Given the description of an element on the screen output the (x, y) to click on. 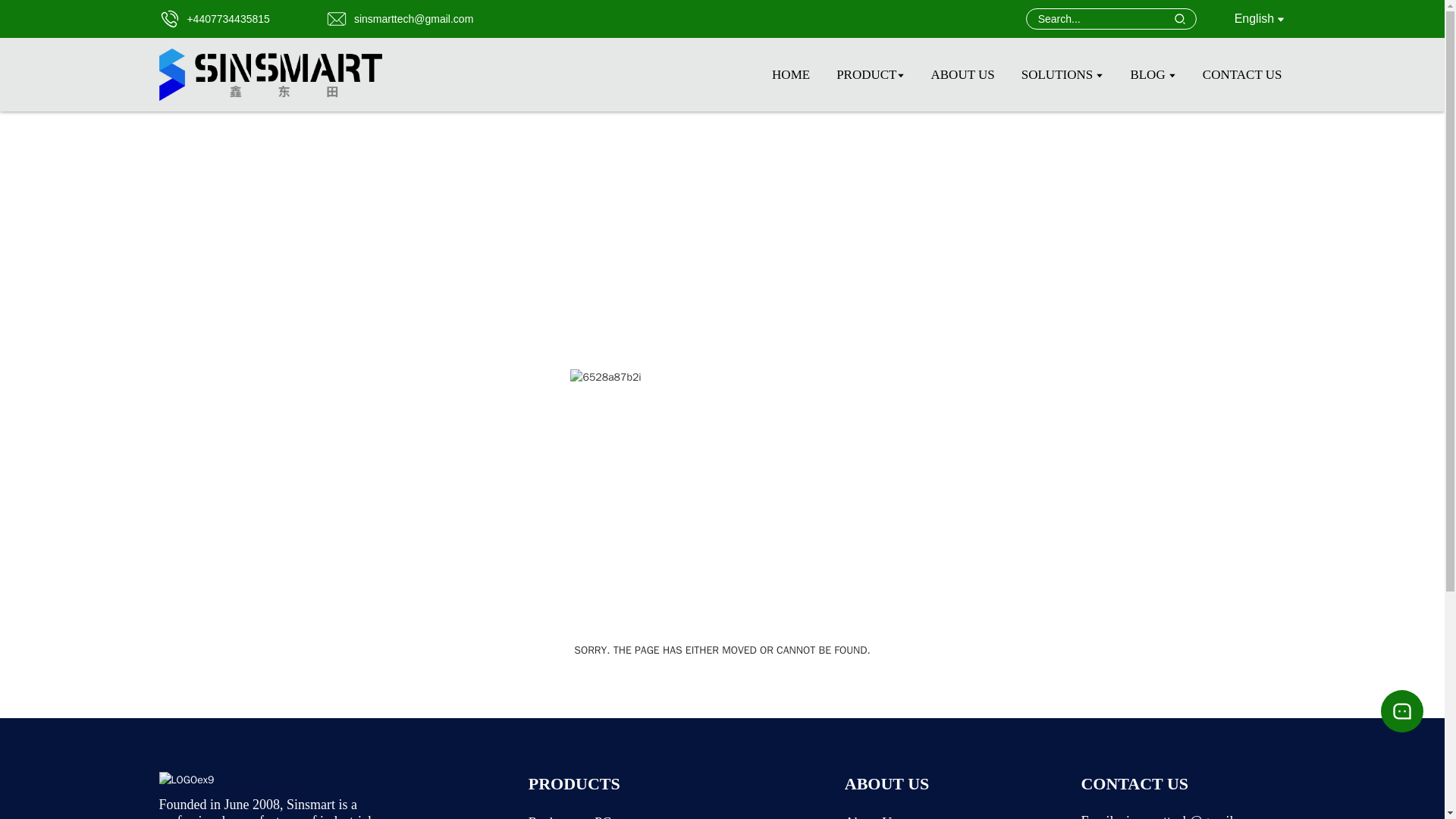
HOME (790, 74)
product (869, 74)
PRODUCT (869, 74)
Home (790, 74)
